Given the description of an element on the screen output the (x, y) to click on. 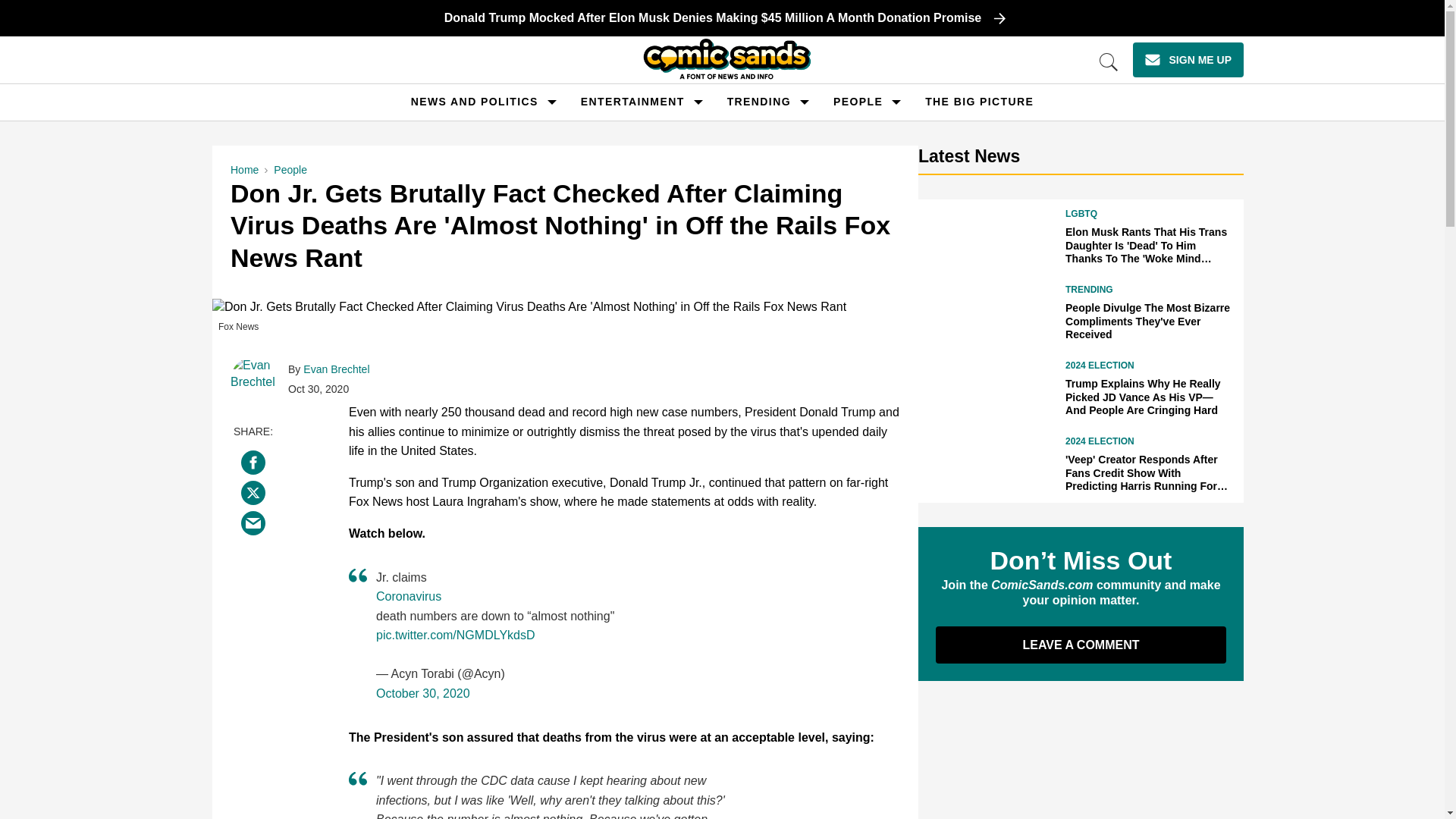
NEWS AND POLITICS (474, 101)
Open Search (1108, 61)
SIGN ME UP (1187, 59)
Open Search (1108, 61)
